Given the description of an element on the screen output the (x, y) to click on. 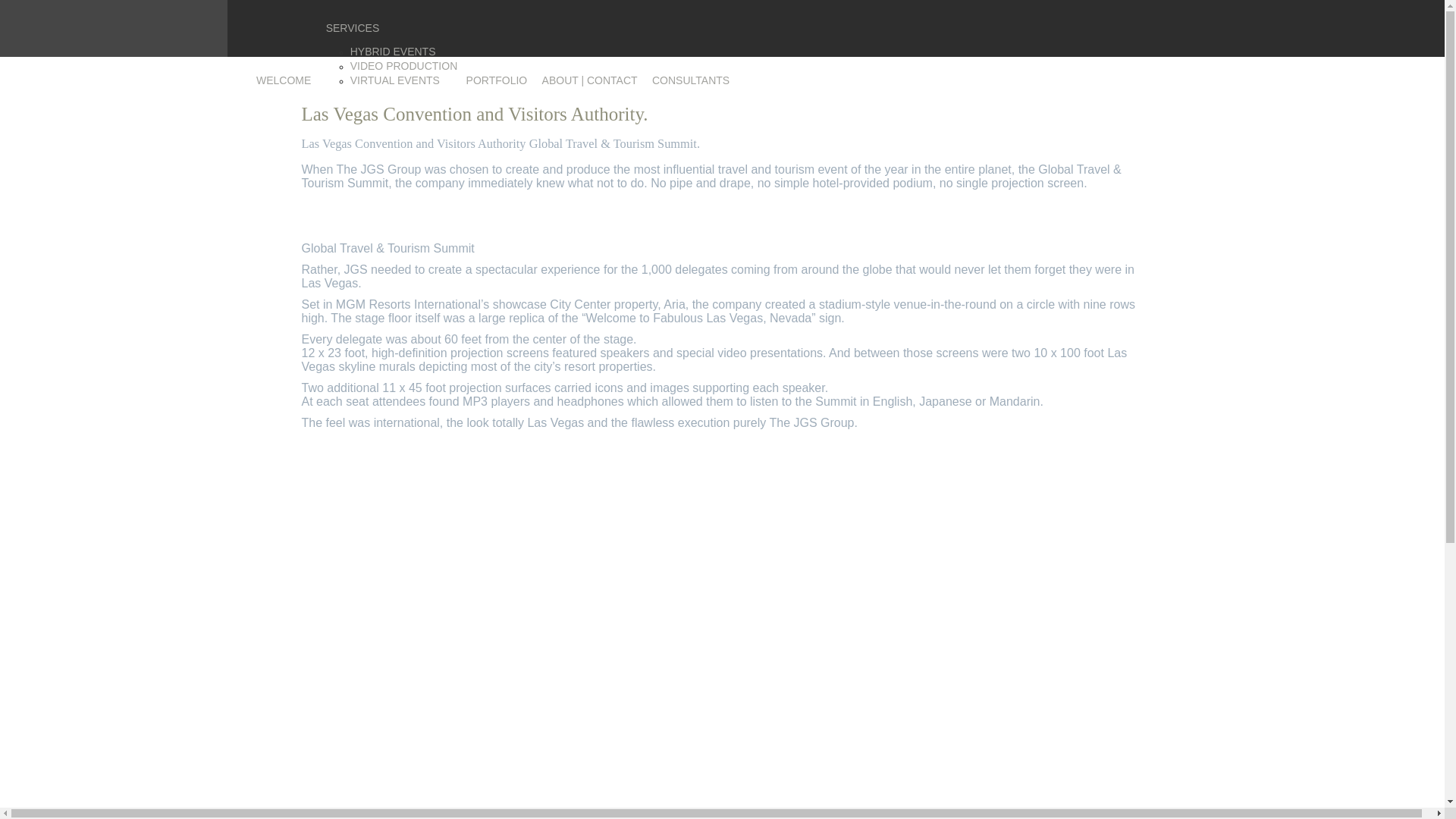
VIRTUAL EVENTS (394, 79)
VIDEO PRODUCTION (404, 65)
HYBRID EVENTS (392, 51)
CONSULTANTS (690, 80)
PORTFOLIO (497, 80)
WELCOME (283, 80)
SERVICES (352, 28)
